Given the description of an element on the screen output the (x, y) to click on. 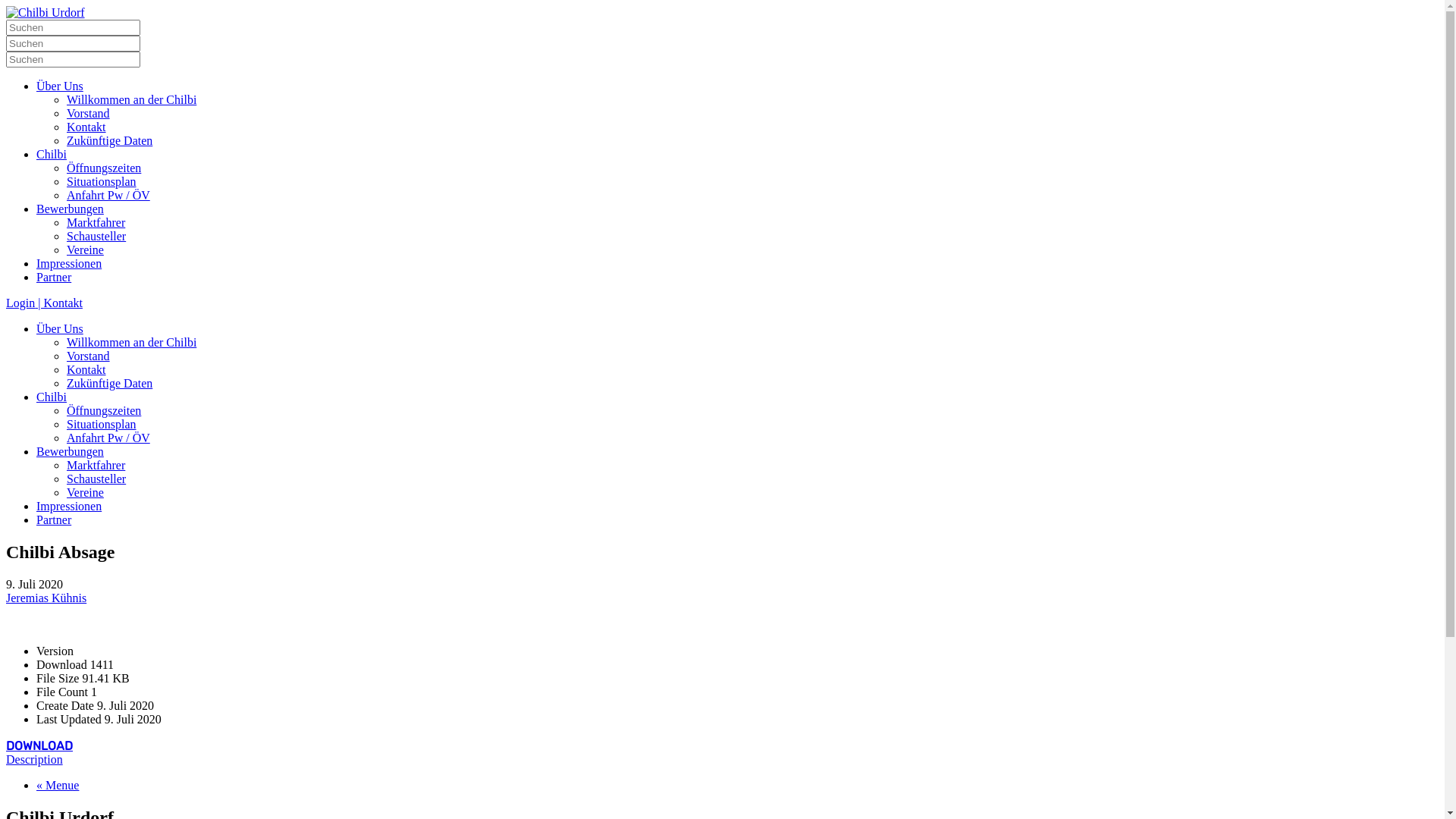
Bewerbungen Element type: text (69, 208)
Situationsplan Element type: text (101, 423)
Willkommen an der Chilbi Element type: text (131, 341)
Marktfahrer Element type: text (95, 222)
Kontakt Element type: text (86, 369)
Vereine Element type: text (84, 249)
Willkommen an der Chilbi Element type: text (131, 99)
Vereine Element type: text (84, 492)
Impressionen Element type: text (68, 505)
Bewerbungen Element type: text (69, 451)
DOWNLOAD Element type: text (39, 745)
Vorstand Element type: text (87, 355)
Schausteller Element type: text (95, 235)
Marktfahrer Element type: text (95, 464)
Chilbi Element type: text (51, 153)
Schausteller Element type: text (95, 478)
Chilbi Element type: text (51, 396)
Impressionen Element type: text (68, 263)
| Kontakt Element type: text (58, 302)
Vorstand Element type: text (87, 112)
Partner Element type: text (53, 276)
Login Element type: text (20, 302)
Situationsplan Element type: text (101, 181)
Partner Element type: text (53, 519)
Description Element type: text (34, 759)
Kontakt Element type: text (86, 126)
